Given the description of an element on the screen output the (x, y) to click on. 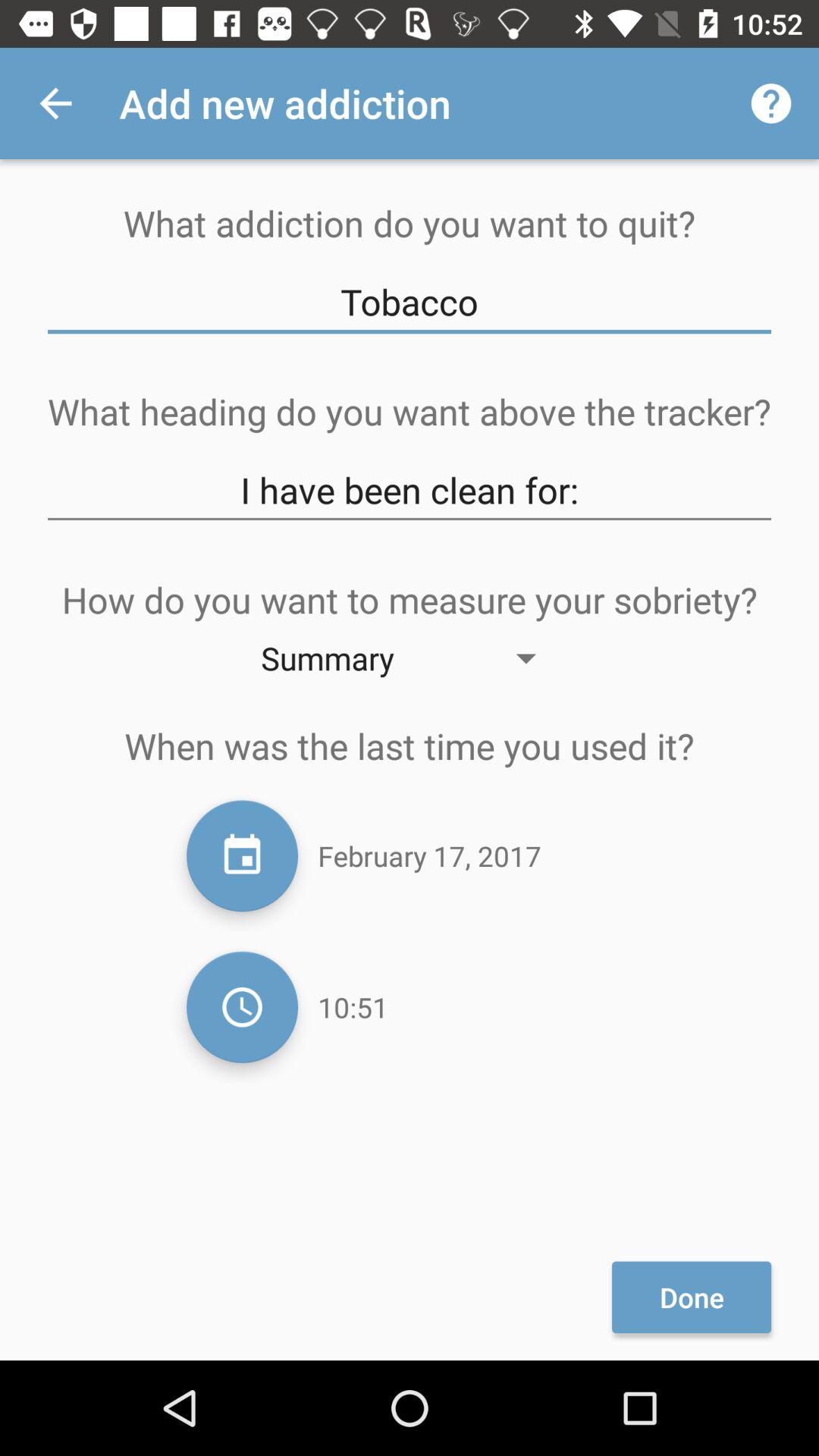
click on the button summary (409, 657)
select the blue color button at bottom right corner of the page (691, 1297)
